Given the description of an element on the screen output the (x, y) to click on. 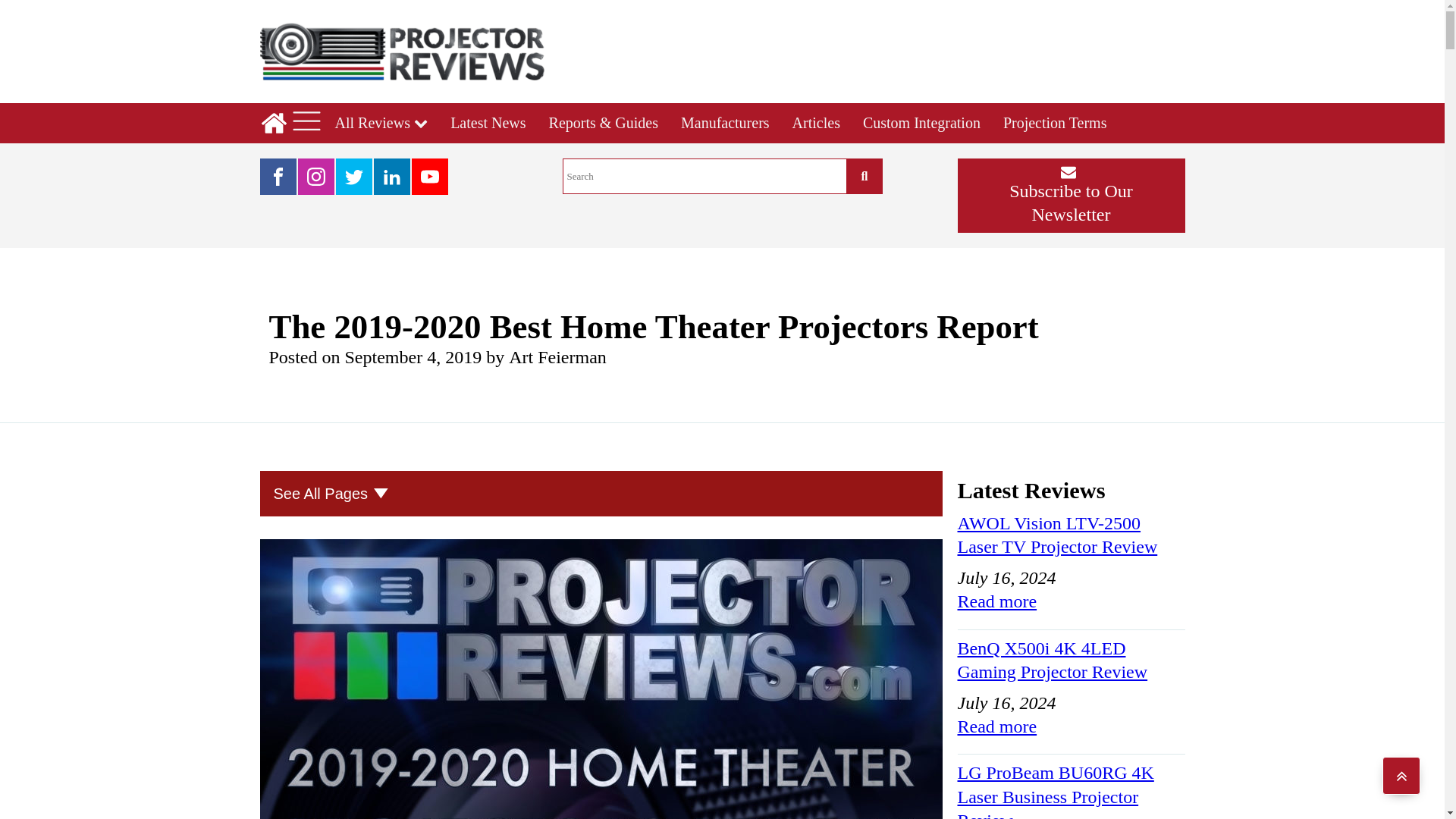
Search (863, 176)
Search (704, 176)
